Given the description of an element on the screen output the (x, y) to click on. 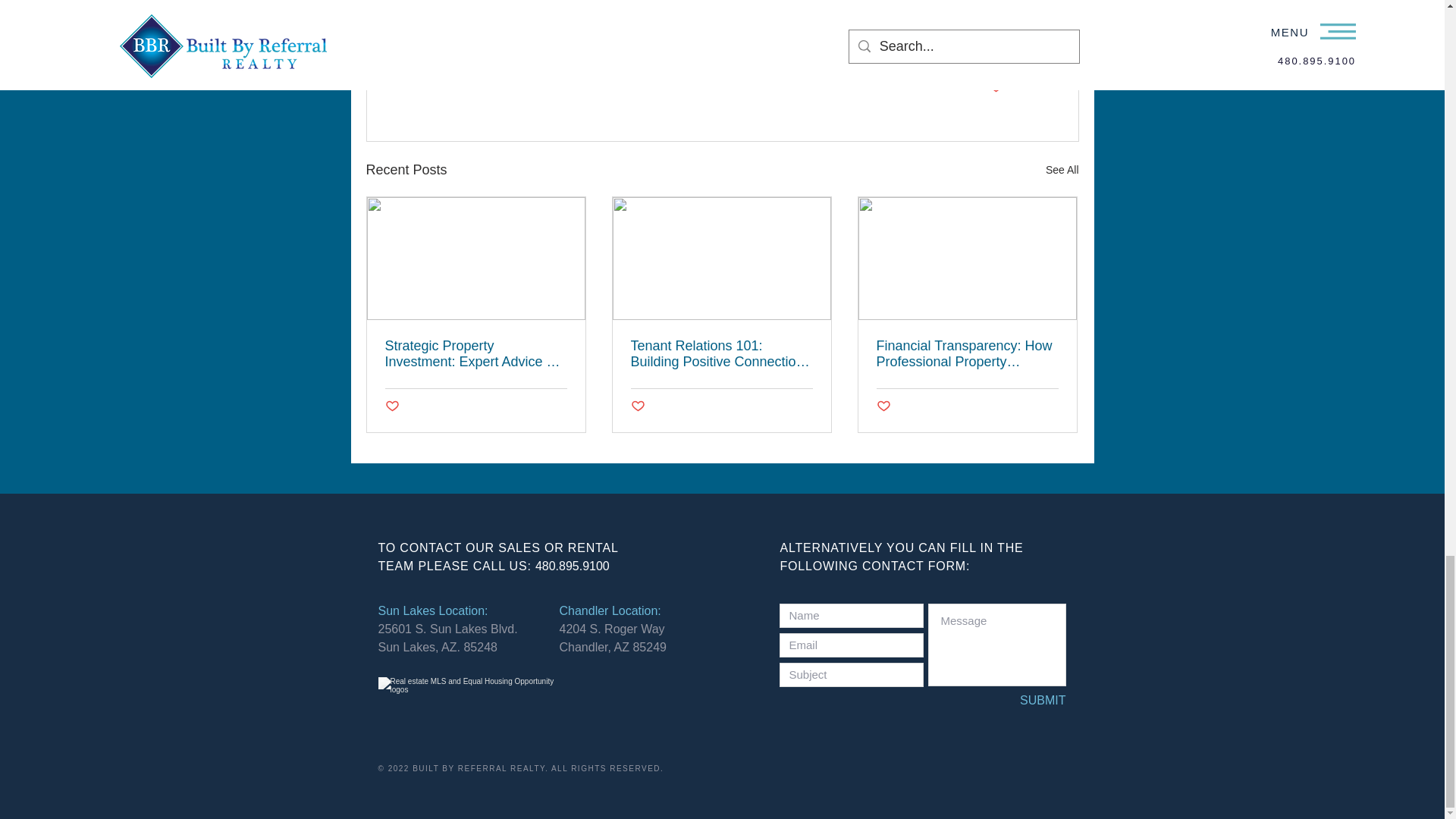
Post not marked as liked (391, 406)
SUBMIT (1014, 701)
Property Management (950, 41)
Post not marked as liked (883, 406)
Post not marked as liked (637, 406)
See All (1061, 169)
Post not marked as liked (995, 87)
